Given the description of an element on the screen output the (x, y) to click on. 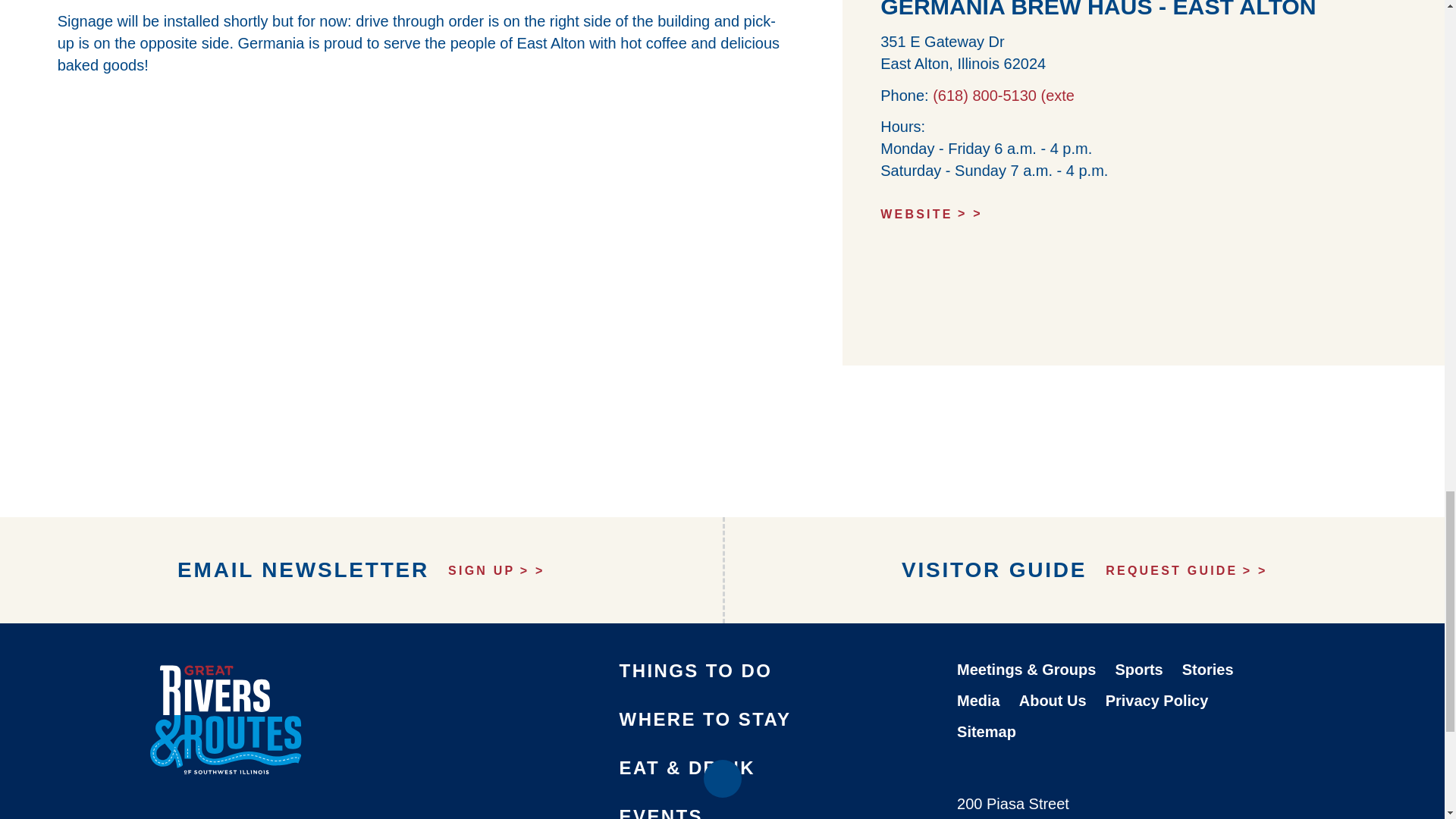
SIGN UP (496, 570)
WEBSITE (1143, 213)
THINGS TO DO (696, 670)
REQUEST GUIDE (1185, 570)
